Given the description of an element on the screen output the (x, y) to click on. 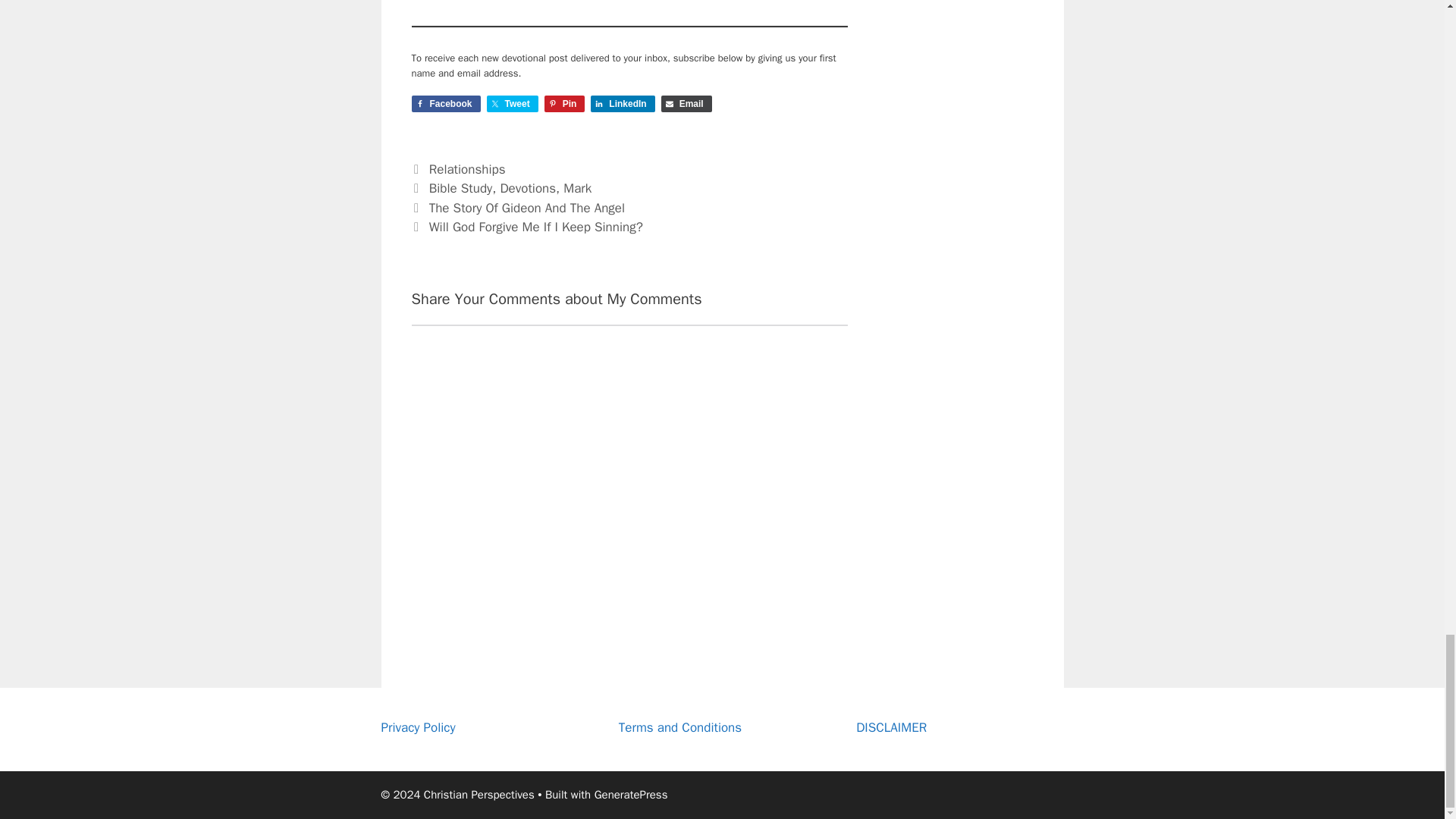
Email (686, 103)
Email (686, 103)
The Story Of Gideon And The Angel (526, 207)
LinkedIn (622, 103)
Bible Study (461, 188)
Pin (564, 103)
Tweet (512, 103)
Mark (577, 188)
Devotions (527, 188)
Facebook (445, 103)
